Given the description of an element on the screen output the (x, y) to click on. 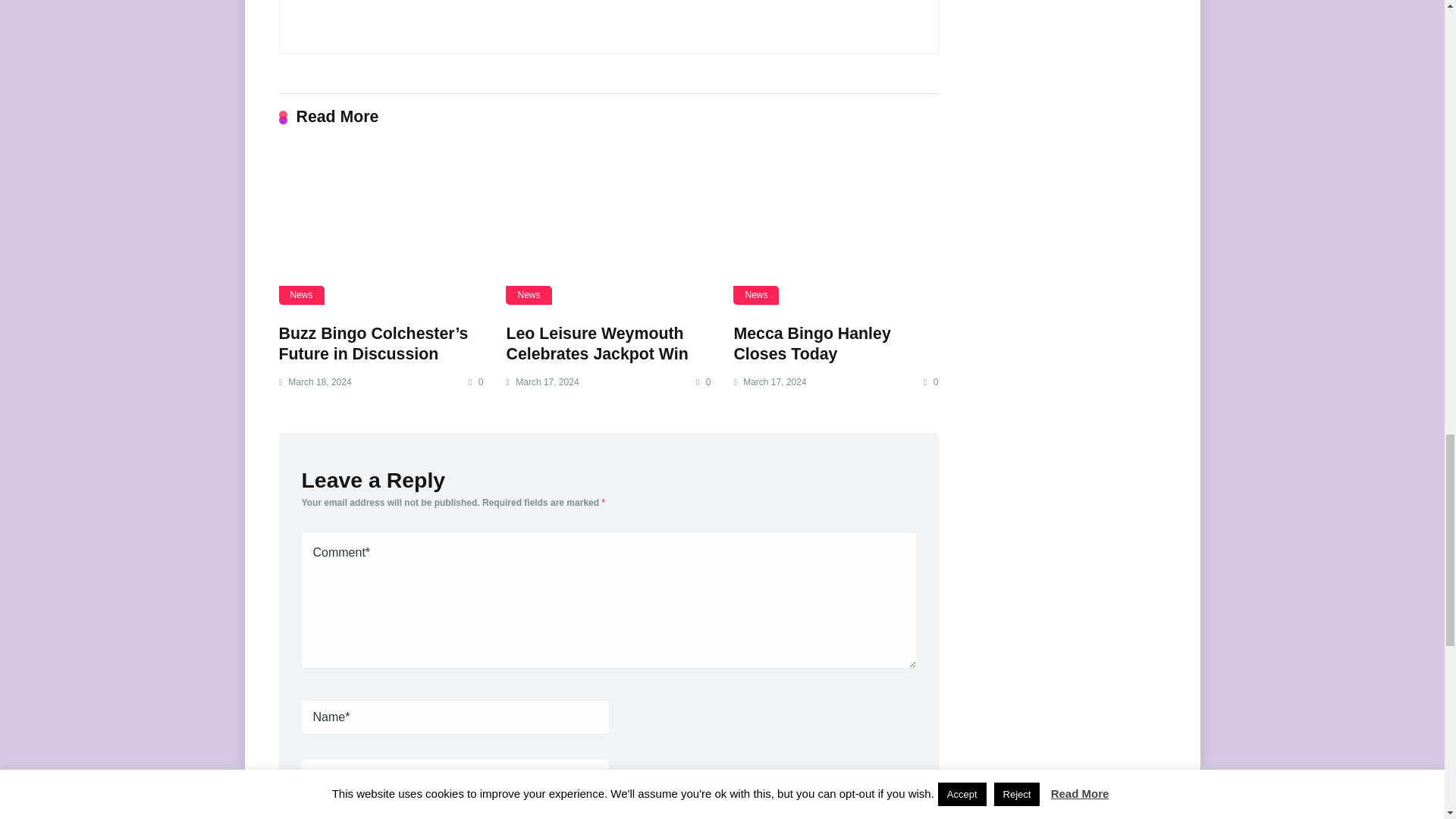
Leo Leisure Weymouth Celebrates Jackpot Win (596, 343)
Leo Leisure Weymouth Celebrates Jackpot Win (596, 343)
News (755, 294)
Leo Leisure Weymouth Celebrates Jackpot Win (607, 228)
Mecca Bingo Hanley Closes Today (811, 343)
News (528, 294)
News (301, 294)
Mecca Bingo Hanley Closes Today (811, 343)
Mecca Bingo Hanley Closes Today (835, 228)
